Given the description of an element on the screen output the (x, y) to click on. 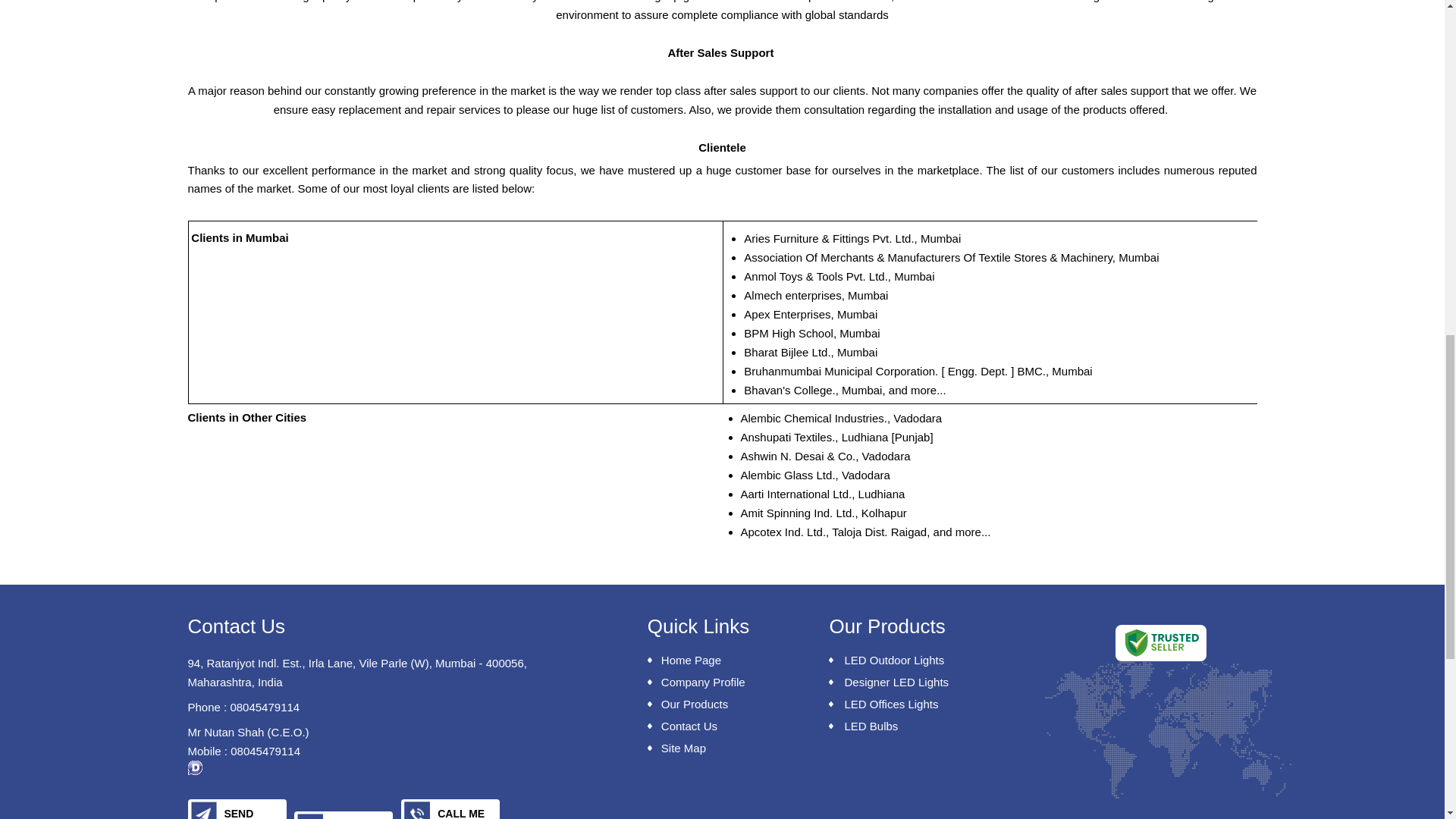
CALL ME FREE (454, 809)
Accepts only Domestic Inquiries (194, 767)
Designer LED Lights (935, 681)
Our Products (721, 703)
LED Outdoor Lights (935, 659)
SEND SMS (345, 815)
Site Map (721, 748)
Contact Us (721, 725)
SEND INQUIRY (239, 809)
Home Page (721, 659)
